Given the description of an element on the screen output the (x, y) to click on. 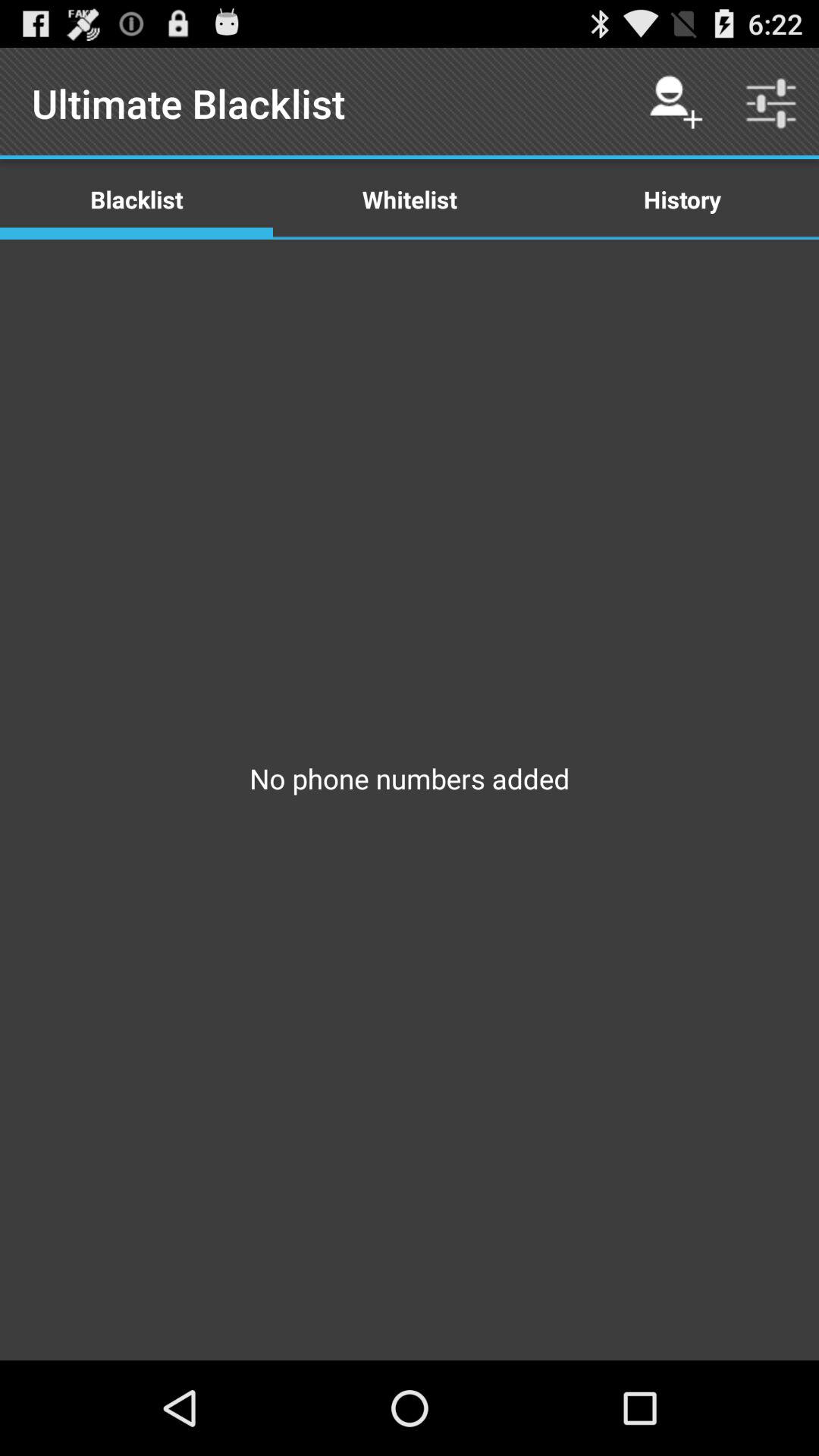
flip until history item (682, 199)
